Given the description of an element on the screen output the (x, y) to click on. 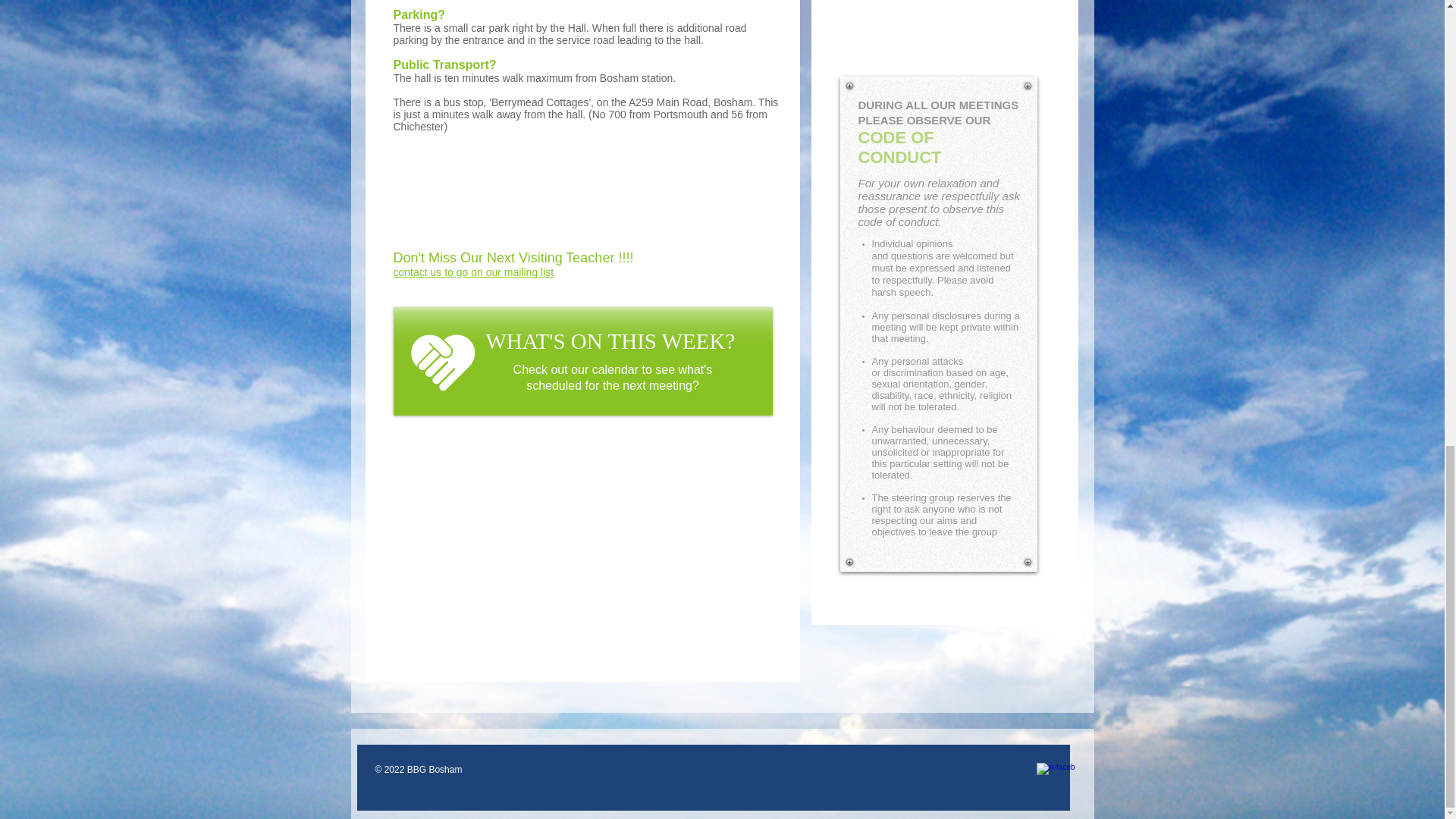
contact us to go on our mailing list (473, 272)
WHAT'S ON THIS WEEK? (609, 340)
